Given the description of an element on the screen output the (x, y) to click on. 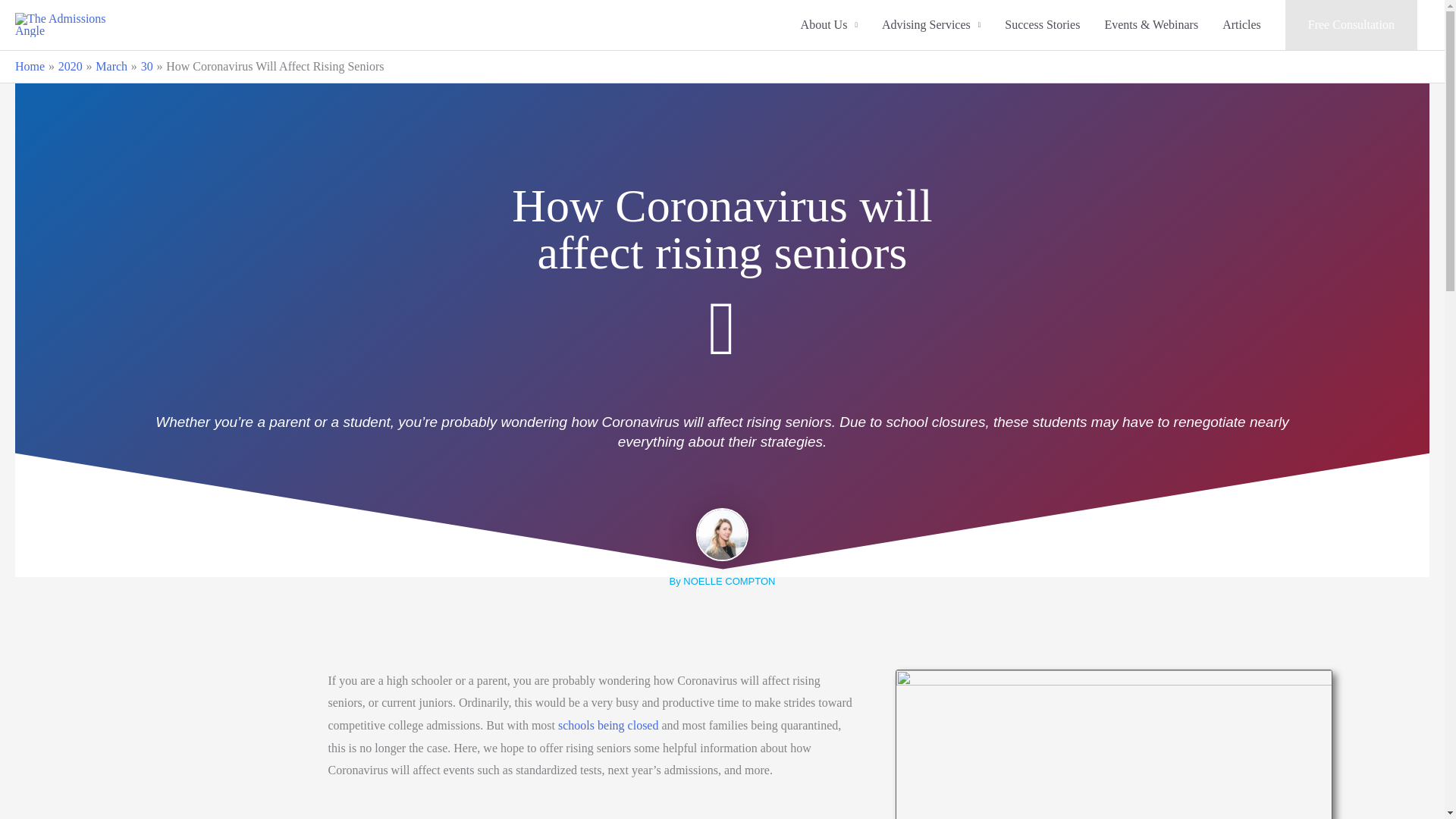
Home (29, 65)
Free Consultation (1350, 24)
2020 (70, 65)
30 (146, 65)
Articles (1240, 24)
Advising Services (930, 24)
schools being closed (607, 725)
About Us (829, 24)
Success Stories (1042, 24)
March (112, 65)
